Given the description of an element on the screen output the (x, y) to click on. 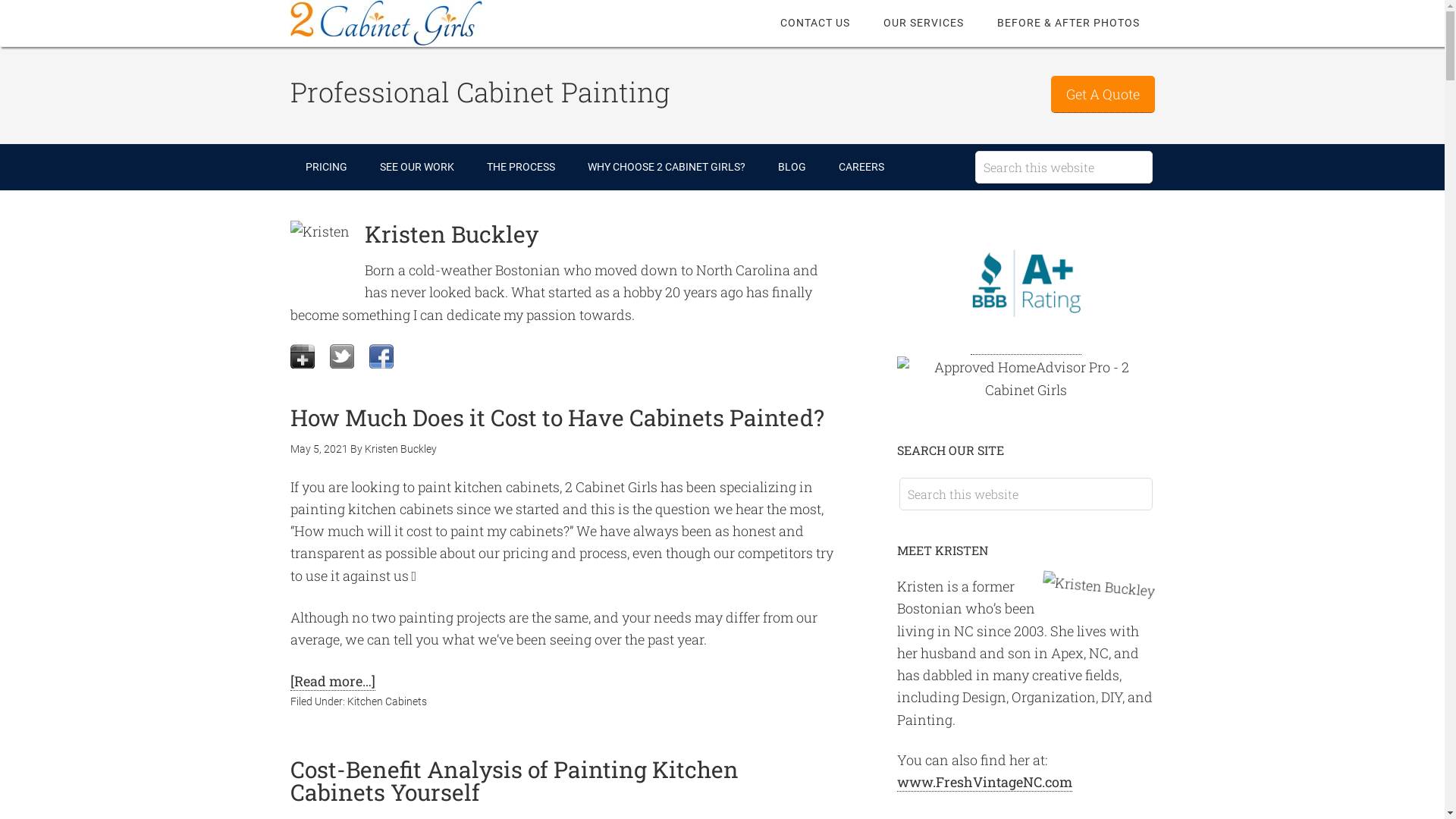
Circle me on Google+ Element type: text (301, 356)
WHY CHOOSE 2 CABINET GIRLS? Element type: text (665, 167)
BLOG Element type: text (791, 167)
www.FreshVintageNC.com Element type: text (983, 781)
Kitchen Cabinets Element type: text (386, 700)
CAREERS Element type: text (861, 167)
Kristen Buckley Element type: text (400, 448)
SEE OUR WORK Element type: text (416, 167)
Cost-Benefit Analysis of Painting Kitchen Cabinets Yourself Element type: text (513, 780)
Search Element type: text (1151, 476)
CONTACT US Element type: text (814, 23)
Friend me on Facebook Element type: text (380, 356)
BEFORE & AFTER PHOTOS Element type: text (1067, 23)
Follow me on Twitter Element type: text (341, 356)
Get A Quote Element type: text (1102, 93)
THE PROCESS Element type: text (520, 167)
Search Element type: text (1151, 150)
OUR SERVICES Element type: text (922, 23)
2 CABINET GIRLS Element type: text (410, 22)
PRICING Element type: text (325, 167)
How Much Does it Cost to Have Cabinets Painted? Element type: text (556, 417)
